Given the description of an element on the screen output the (x, y) to click on. 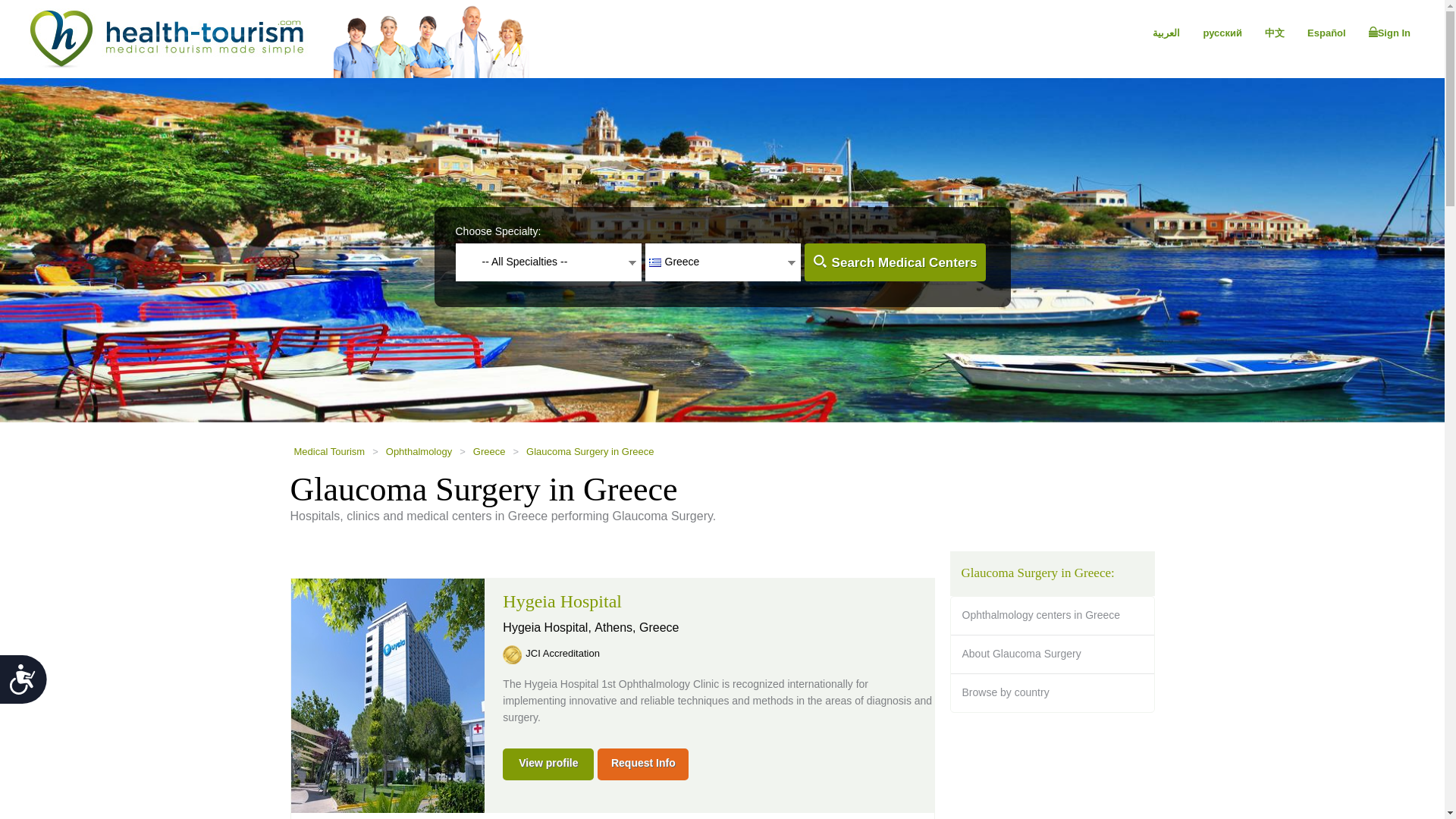
Search Medical Centers (894, 262)
Hygeia Hospital,  (548, 626)
Ophthalmology (418, 452)
View profile (548, 764)
Athens, Greece (636, 626)
Medical Tourism (329, 452)
Hygeia Hospital (561, 600)
Sign In (1389, 33)
Glaucoma Surgery in Greece (589, 452)
Sign up page (1389, 33)
JCI Accreditation (567, 652)
Greece (489, 452)
Accessibility (29, 685)
Request Info (642, 764)
